Given the description of an element on the screen output the (x, y) to click on. 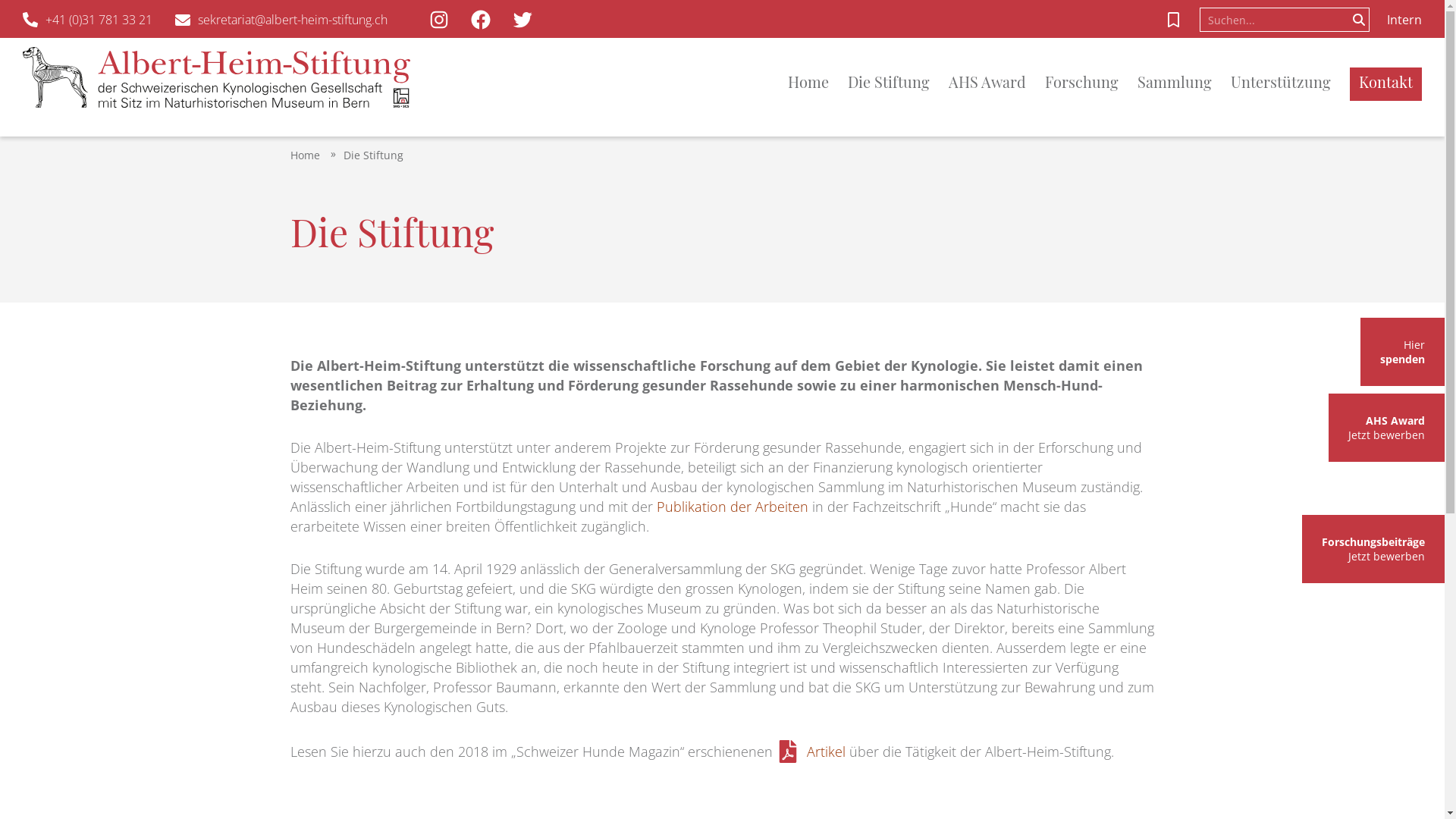
AHS Award Element type: text (996, 83)
Sammlung Element type: text (1183, 83)
Publikation der Arbeiten Element type: text (732, 506)
Die Stiftung Element type: text (372, 155)
Suchen Element type: text (1358, 19)
Hier
spenden Element type: text (1402, 351)
+41 (0)31 781 33 21 Element type: text (87, 19)
Kontakt Element type: text (1385, 83)
Artikel Element type: text (810, 751)
sekretariat@albert-heim-stiftung.ch Element type: text (281, 19)
Forschung Element type: text (1090, 83)
Die Stiftung Element type: text (897, 83)
Intern Element type: text (1403, 19)
Home Element type: text (817, 83)
Home Element type: text (304, 155)
AHS Award
Jetzt bewerben Element type: text (1386, 427)
